Given the description of an element on the screen output the (x, y) to click on. 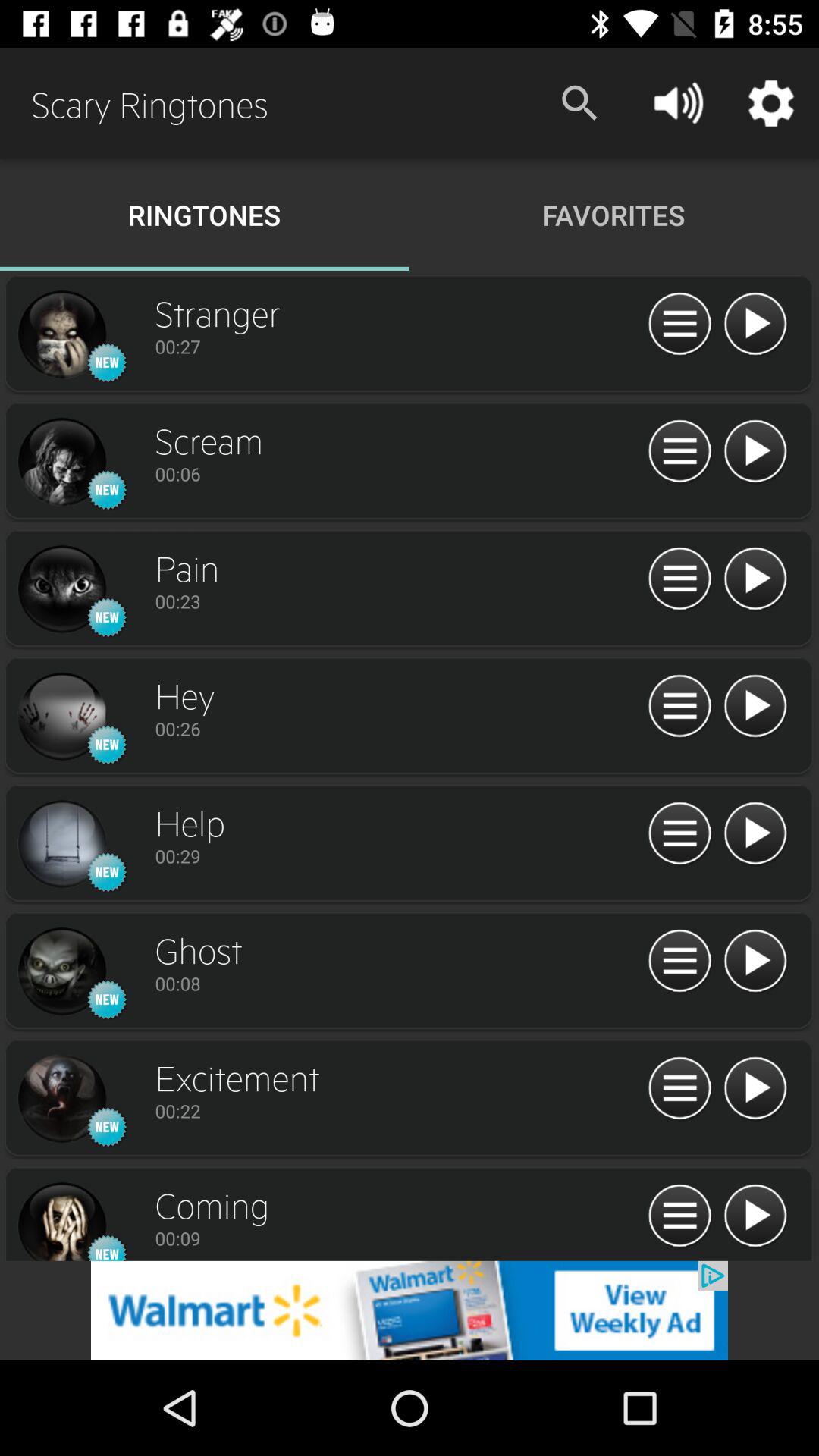
options (679, 961)
